Given the description of an element on the screen output the (x, y) to click on. 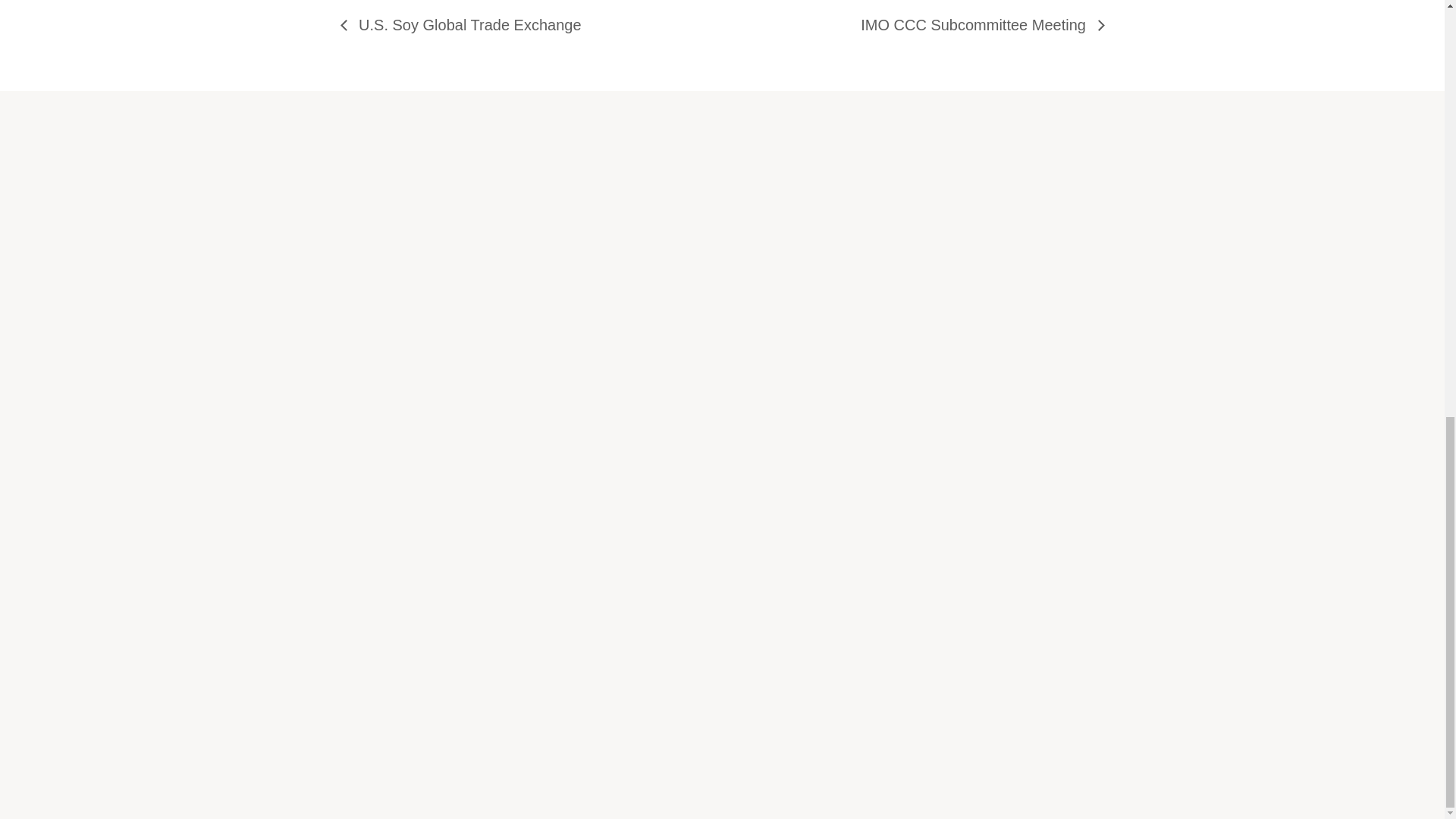
IMO CCC Subcommittee Meeting (977, 24)
U.S. Soy Global Trade Exchange (464, 24)
